Given the description of an element on the screen output the (x, y) to click on. 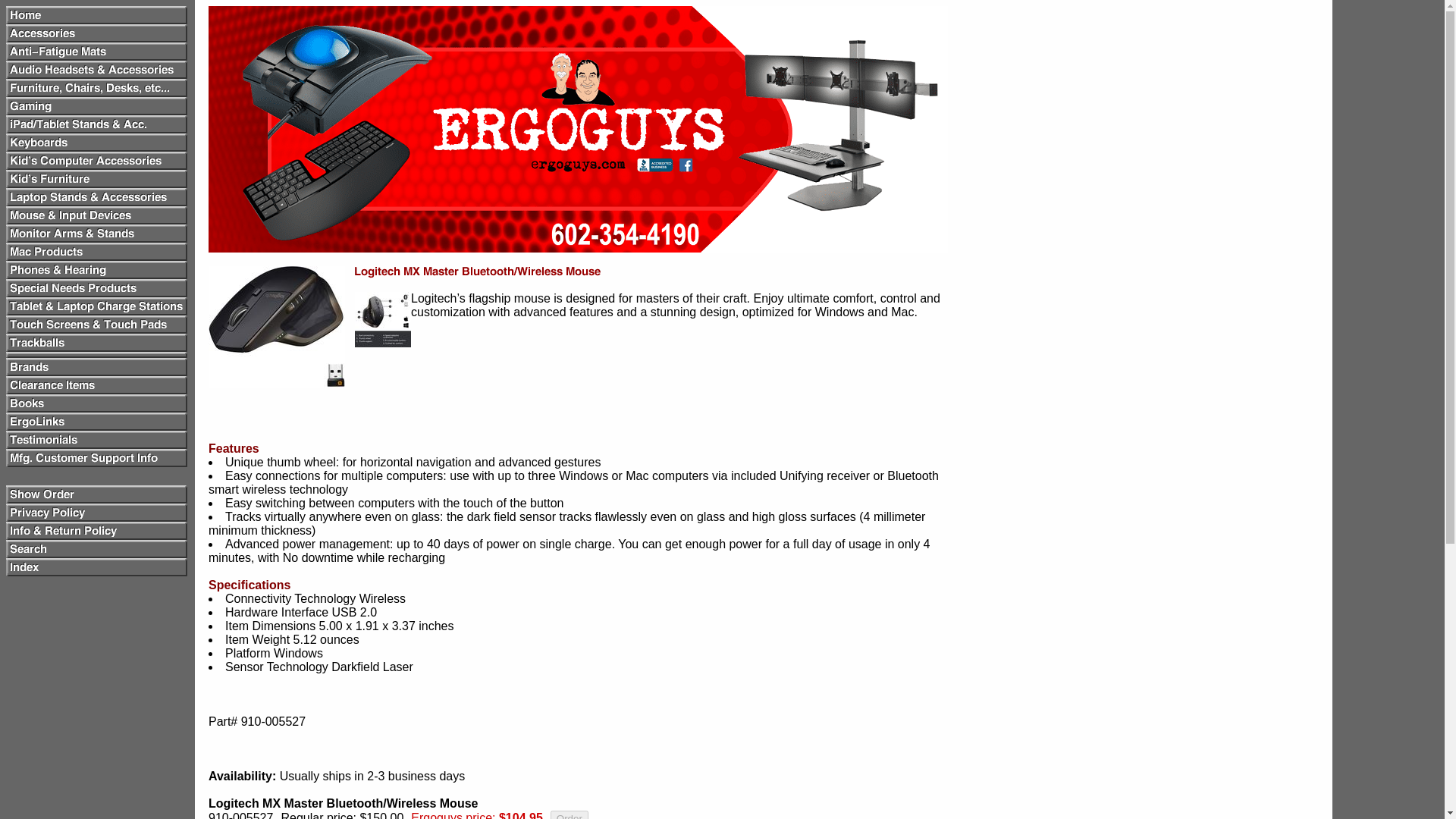
Order (569, 814)
Order (569, 814)
